Given the description of an element on the screen output the (x, y) to click on. 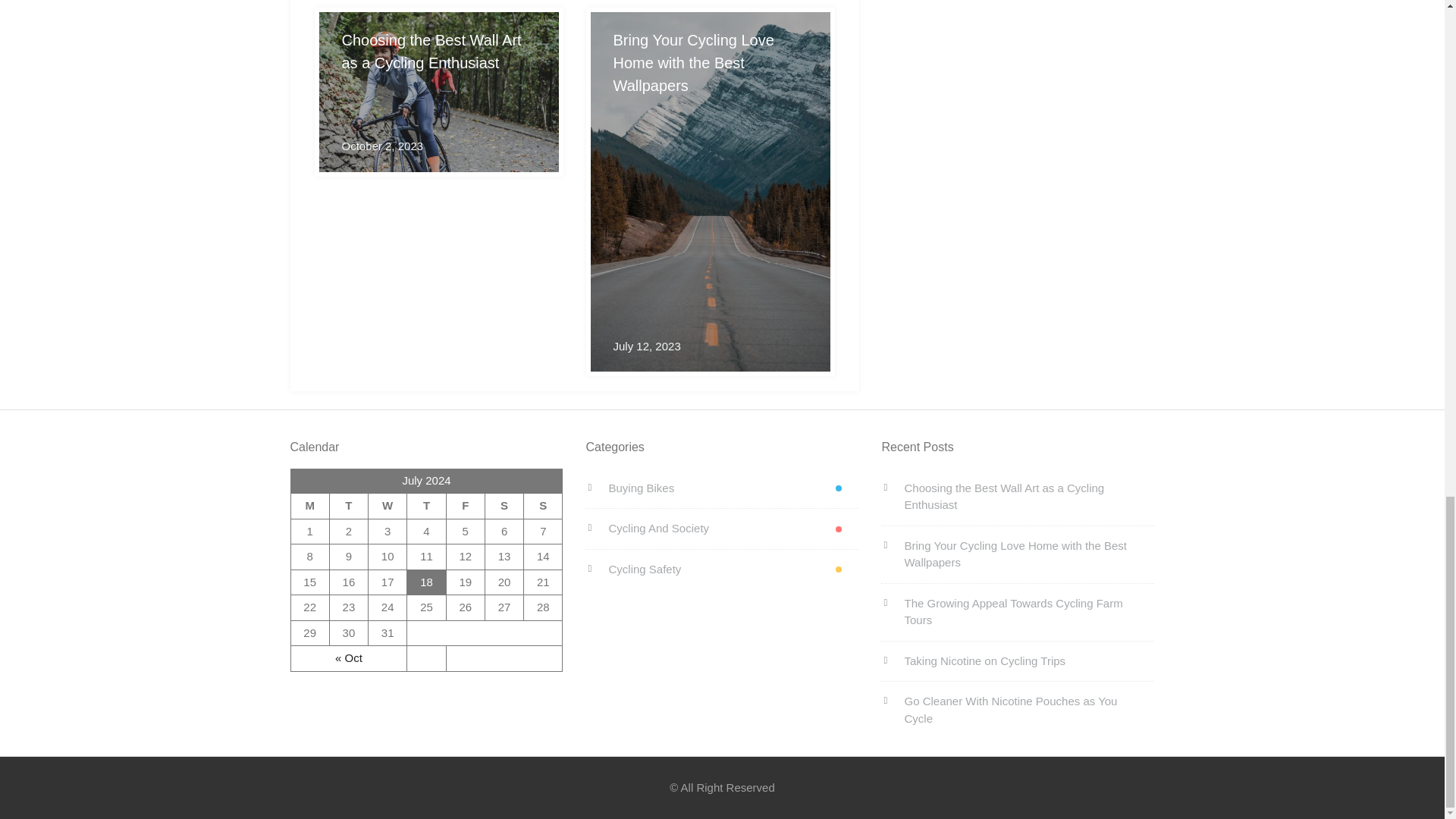
Cycling And Society (722, 528)
Sunday (543, 506)
Buying Bikes (722, 488)
Wednesday (387, 506)
Tuesday (348, 506)
Saturday (503, 506)
Choosing the Best Wall Art as a Cycling Enthusiast (1017, 496)
Monday (309, 506)
Cycling Safety (722, 569)
Friday (464, 506)
Thursday (426, 506)
